Given the description of an element on the screen output the (x, y) to click on. 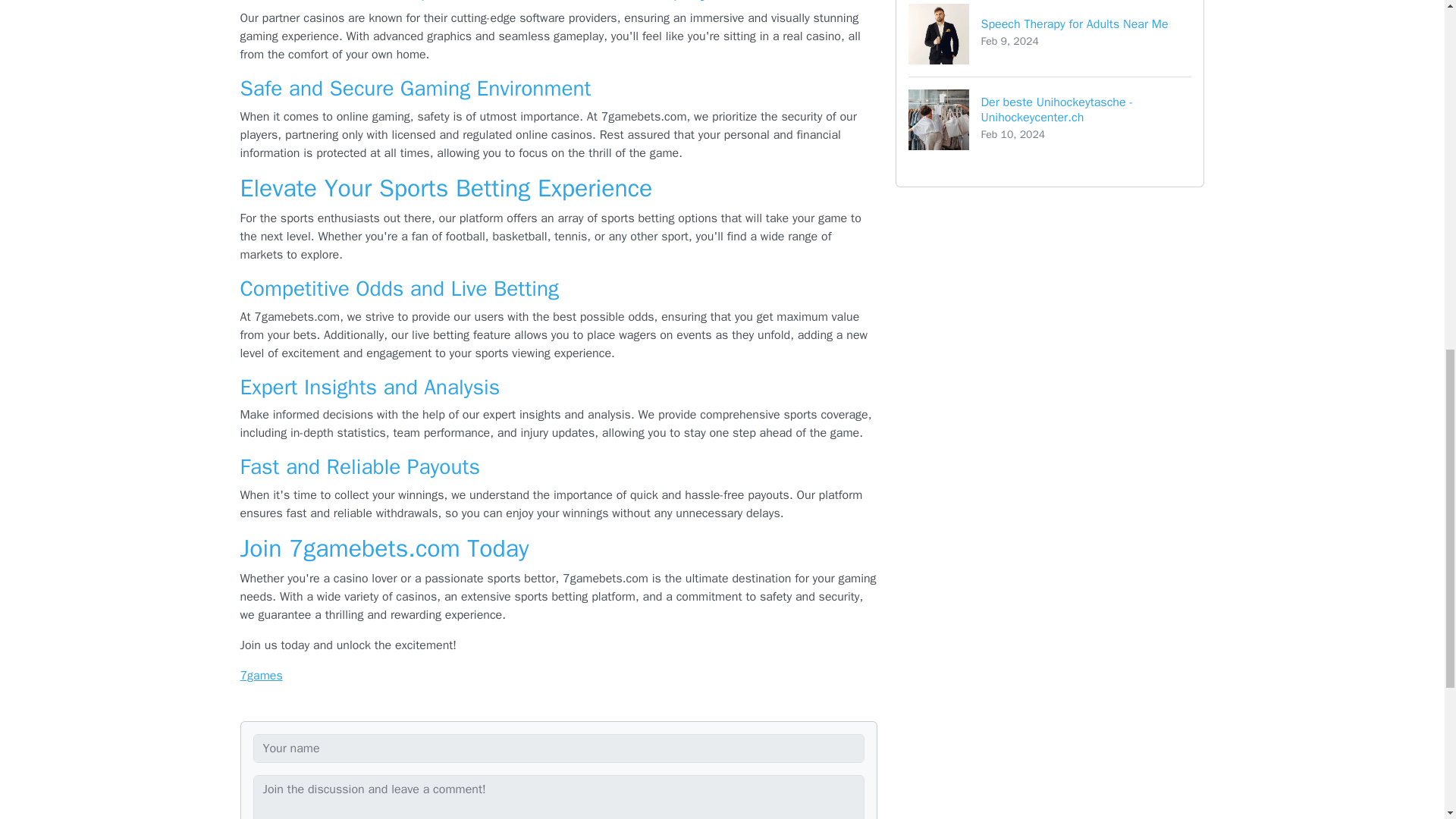
7games (1050, 119)
